Given the description of an element on the screen output the (x, y) to click on. 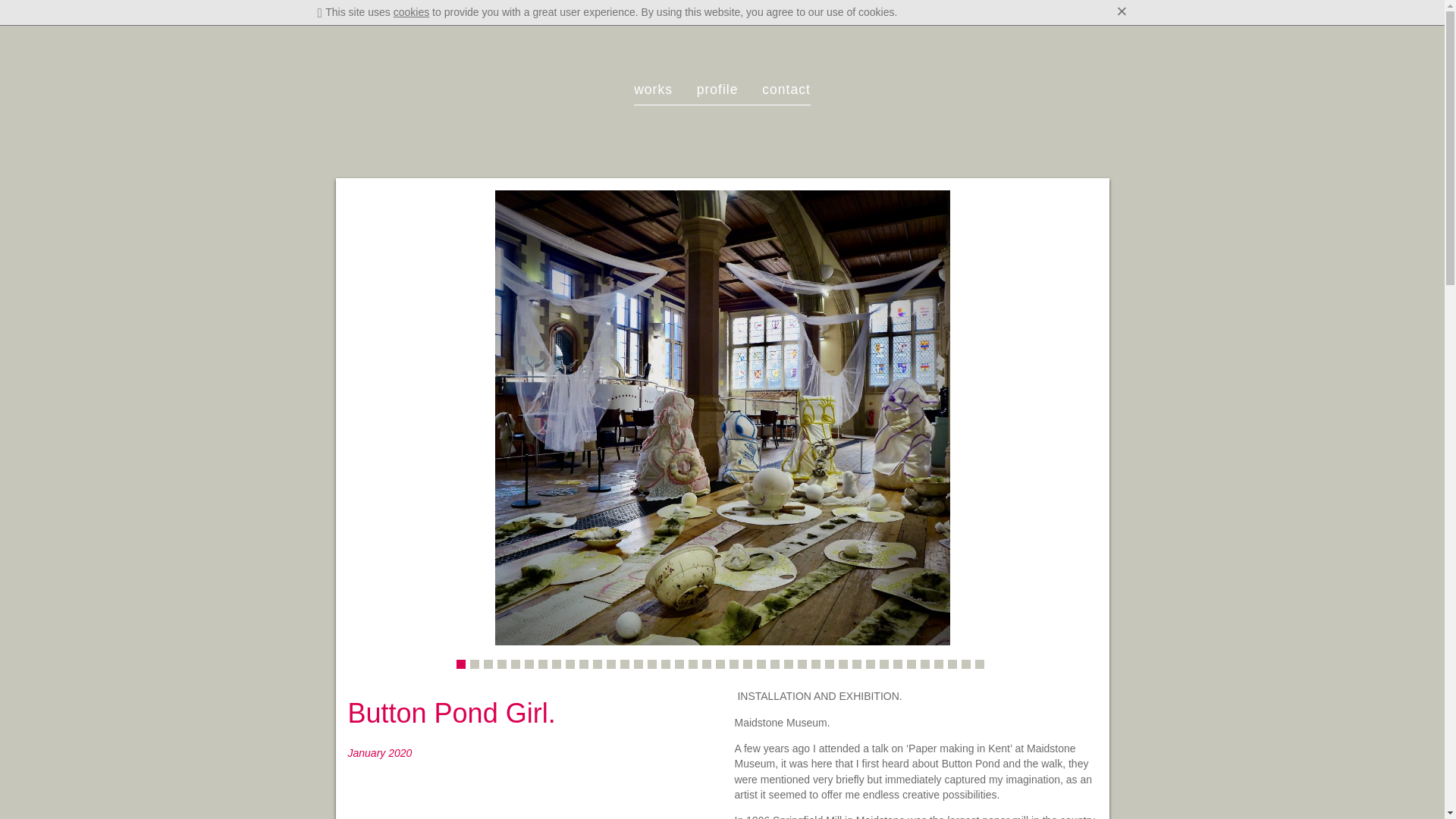
13 (624, 664)
profile (717, 89)
34 (911, 664)
8 (555, 664)
1 (461, 664)
23 (761, 664)
2 (474, 664)
14 (638, 664)
15 (651, 664)
